Given the description of an element on the screen output the (x, y) to click on. 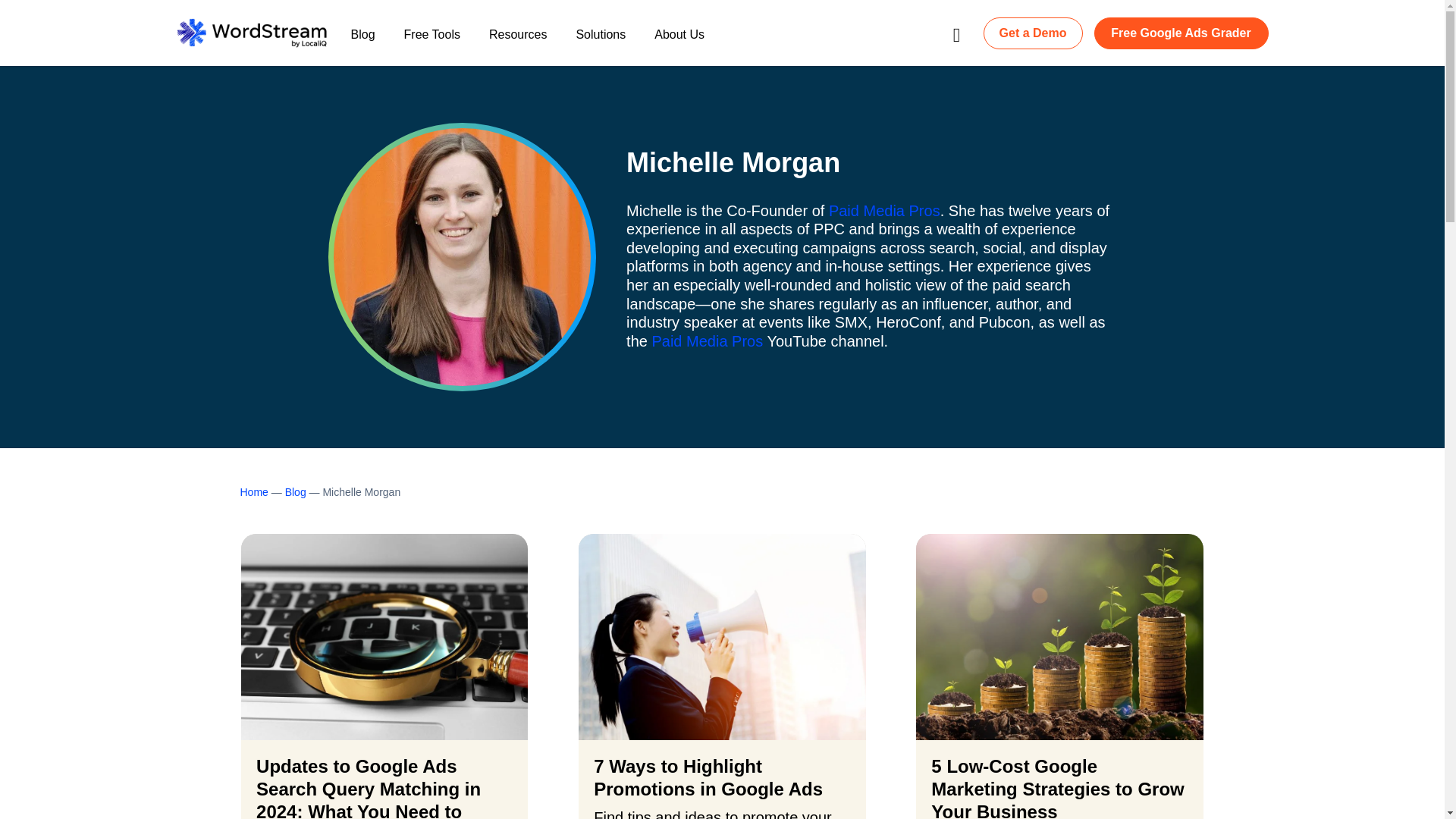
Blog (363, 41)
Solutions (600, 41)
Paid Media Pros (706, 340)
About Us (679, 41)
Blog (295, 491)
Free Tools (432, 41)
Free Google Ads Grader (1180, 32)
Get a Demo (1033, 32)
Home (253, 491)
